Given the description of an element on the screen output the (x, y) to click on. 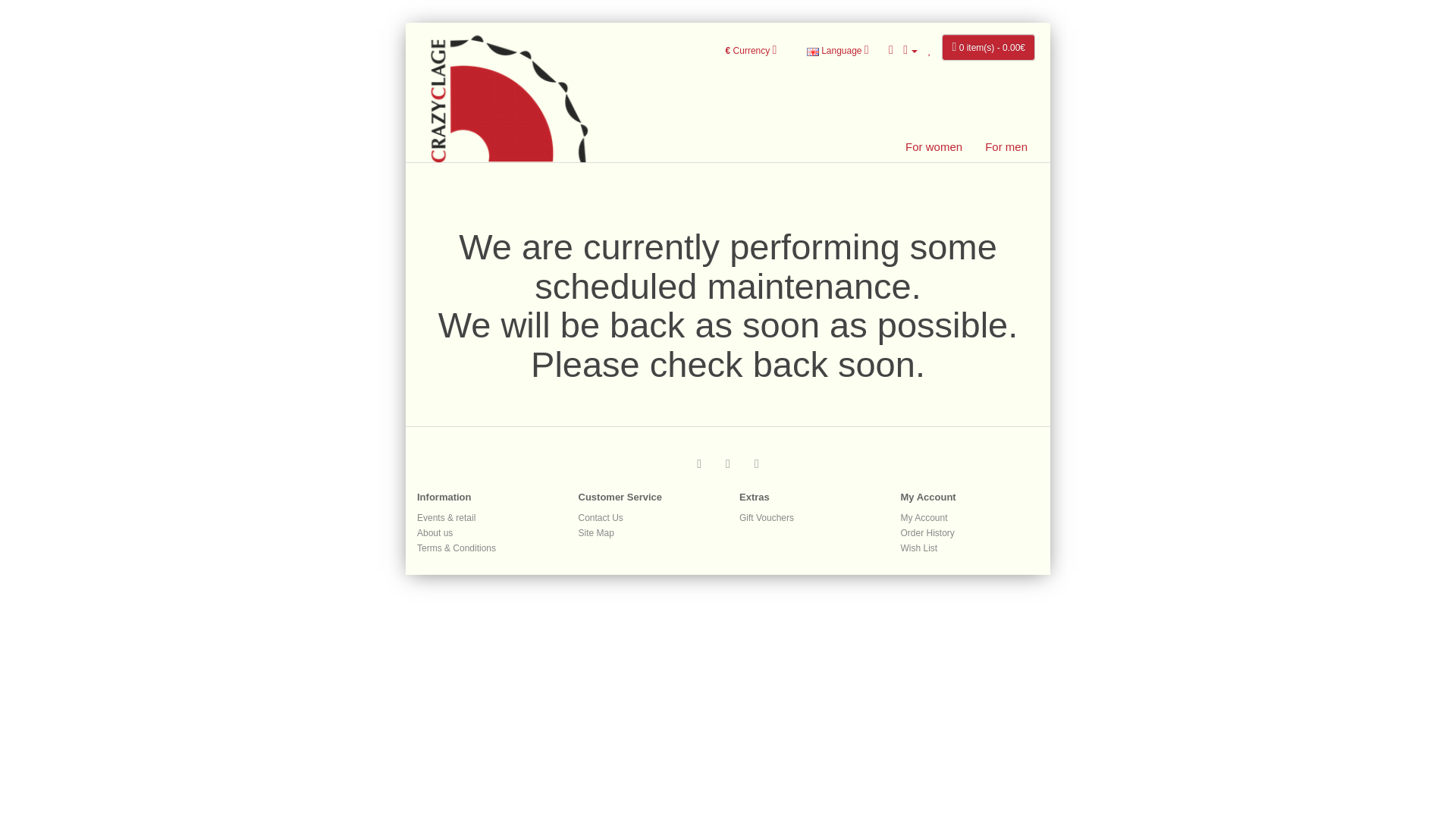
Contact Us Element type: text (599, 517)
About us Element type: text (434, 532)
Gift Vouchers Element type: text (766, 517)
English Element type: hover (812, 51)
Crazyclage Element type: hover (508, 82)
Site Map Element type: text (595, 532)
My Account Element type: hover (910, 50)
Terms & Conditions Element type: text (456, 547)
For men Element type: text (1005, 146)
Wish List Element type: text (919, 547)
Events & retail Element type: text (446, 517)
Wish List (0) Element type: hover (929, 50)
Order History Element type: text (927, 532)
My Account Element type: text (923, 517)
Language Element type: text (837, 50)
For women Element type: text (933, 146)
